Given the description of an element on the screen output the (x, y) to click on. 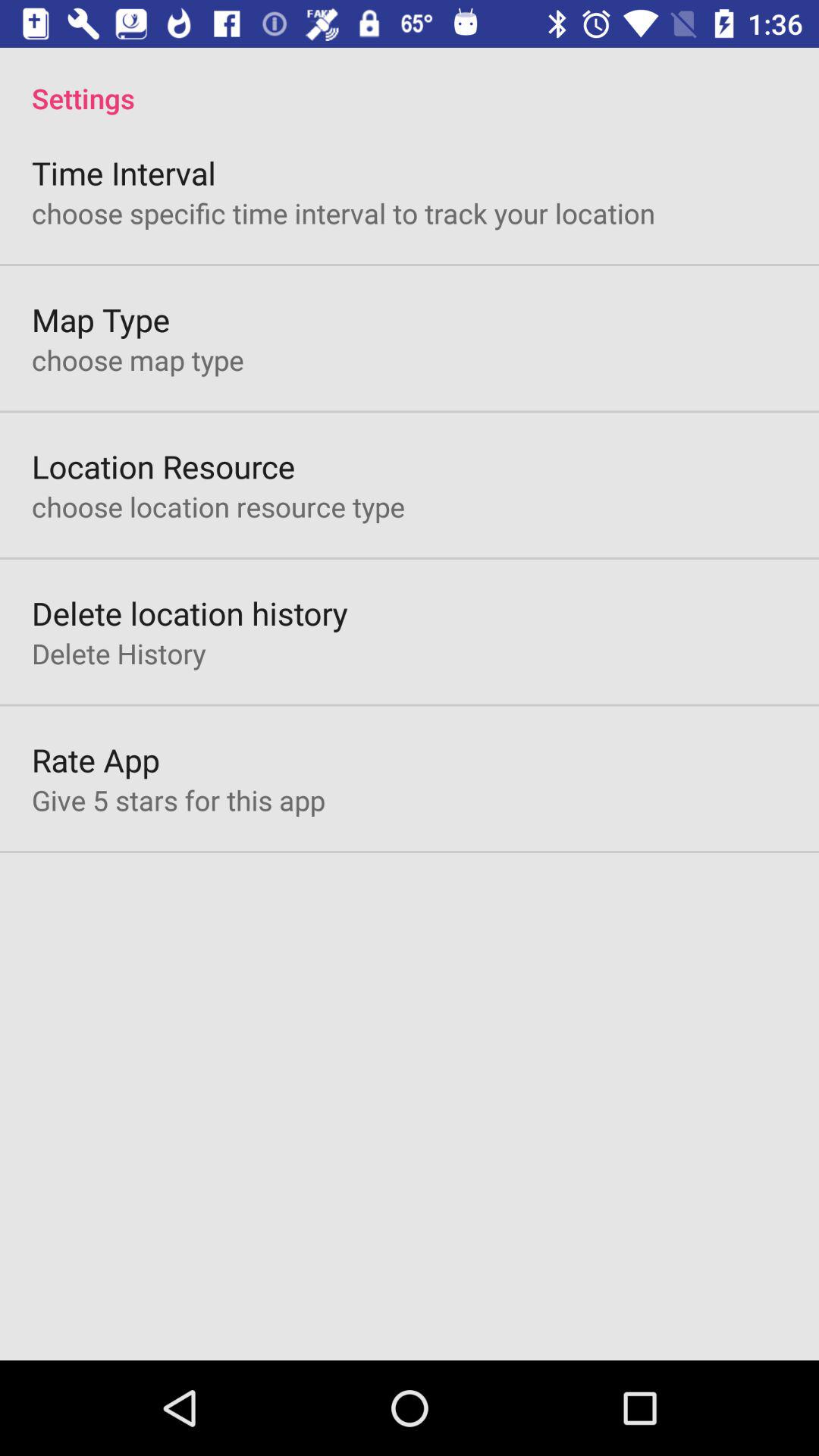
turn on rate app item (95, 759)
